Given the description of an element on the screen output the (x, y) to click on. 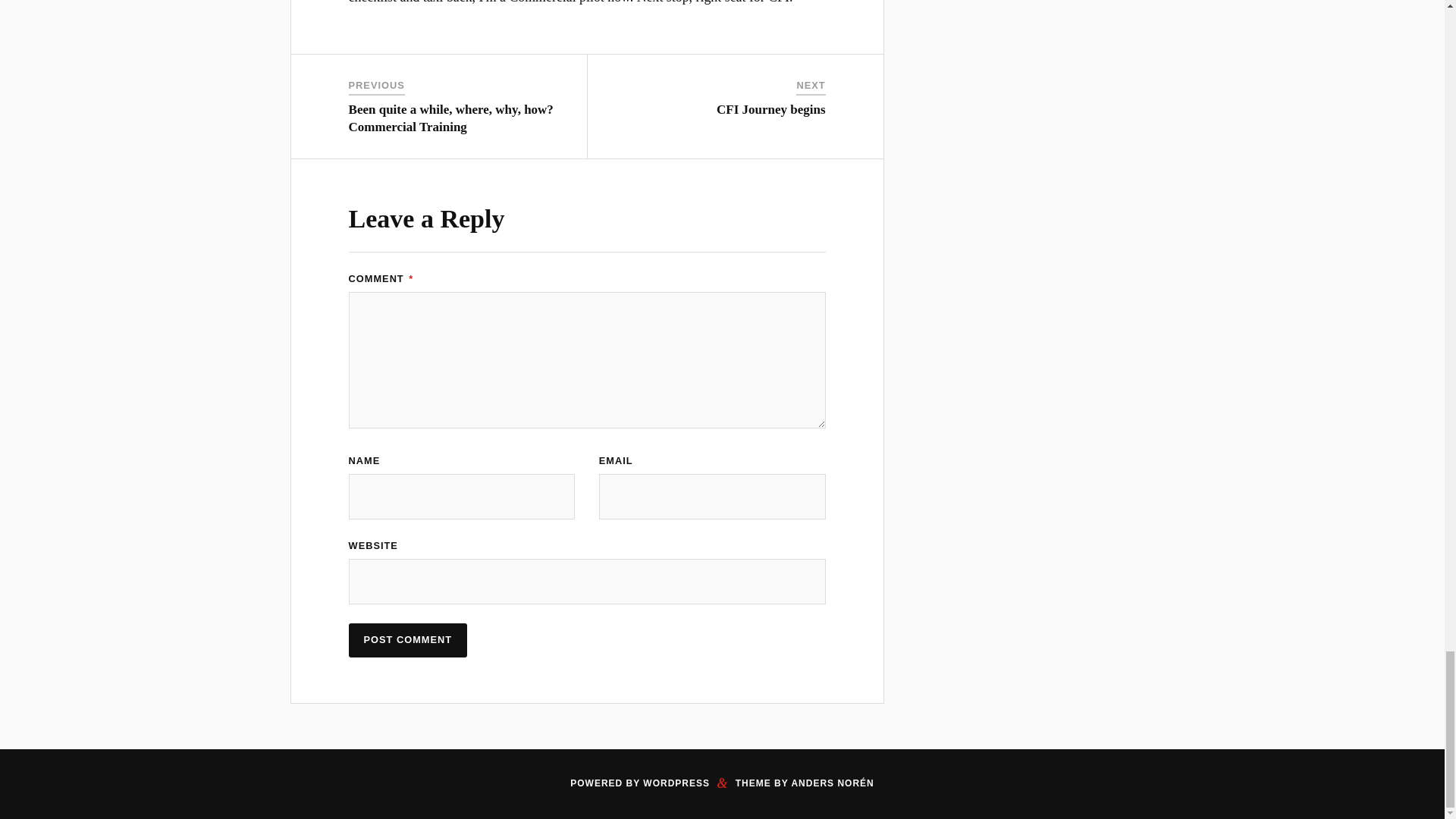
Post Comment (408, 640)
Post Comment (408, 640)
Been quite a while, where, why, how? Commercial Training (451, 117)
CFI Journey begins (770, 109)
